Given the description of an element on the screen output the (x, y) to click on. 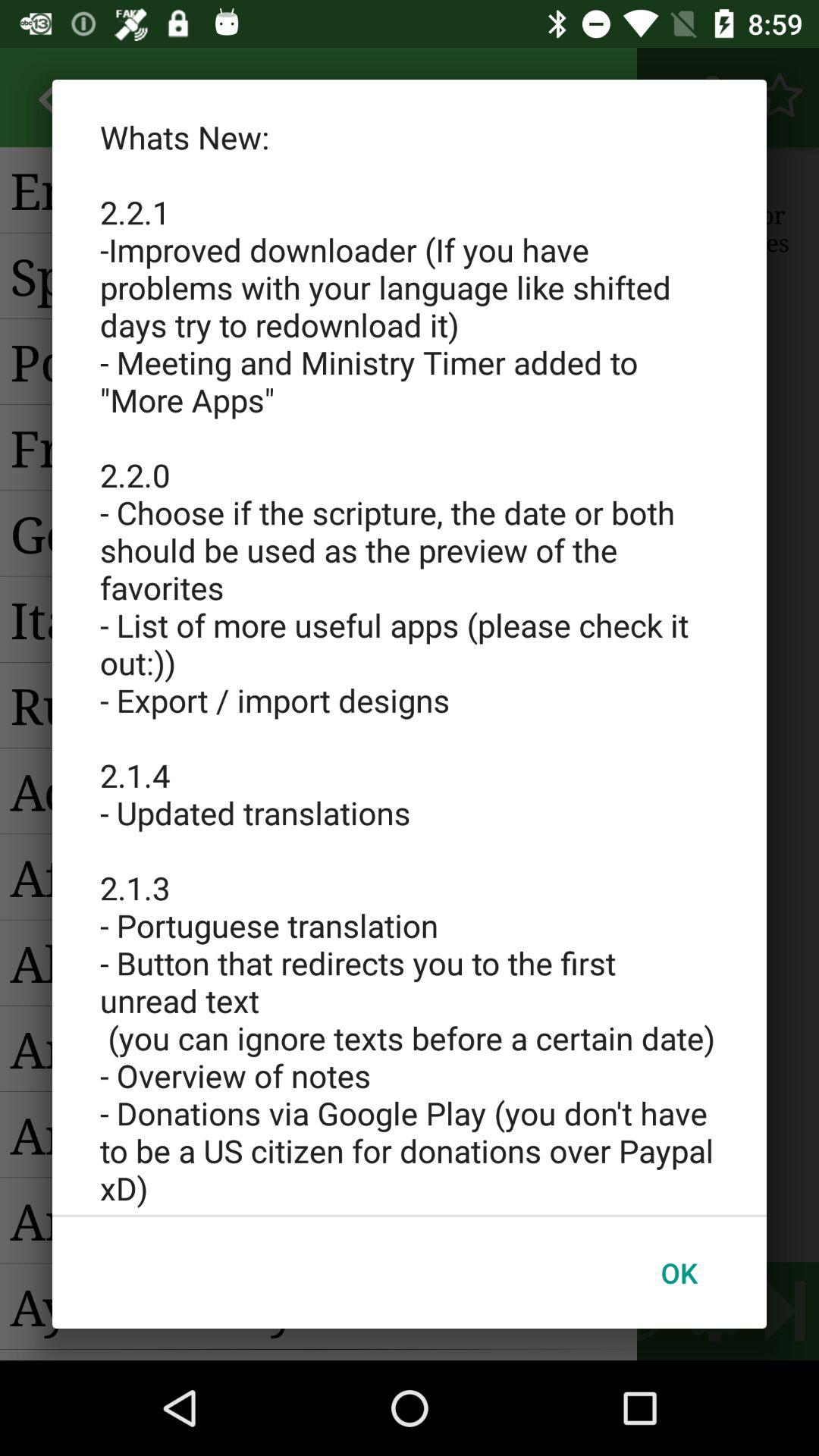
turn off the ok button (678, 1272)
